Given the description of an element on the screen output the (x, y) to click on. 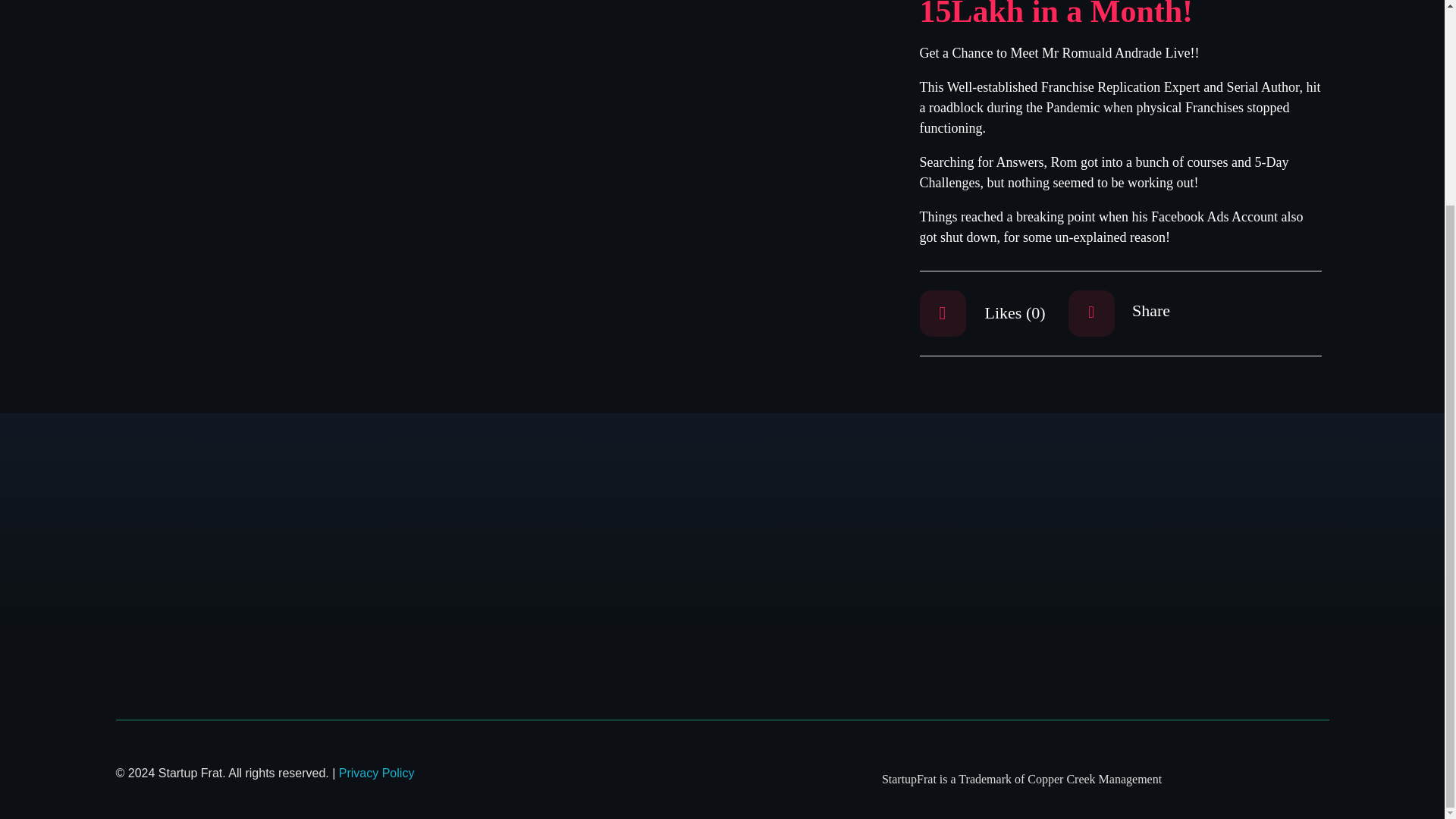
Privacy Policy (376, 772)
StartupFrat is a Trademark of Copper Creek Management (1025, 779)
